Given the description of an element on the screen output the (x, y) to click on. 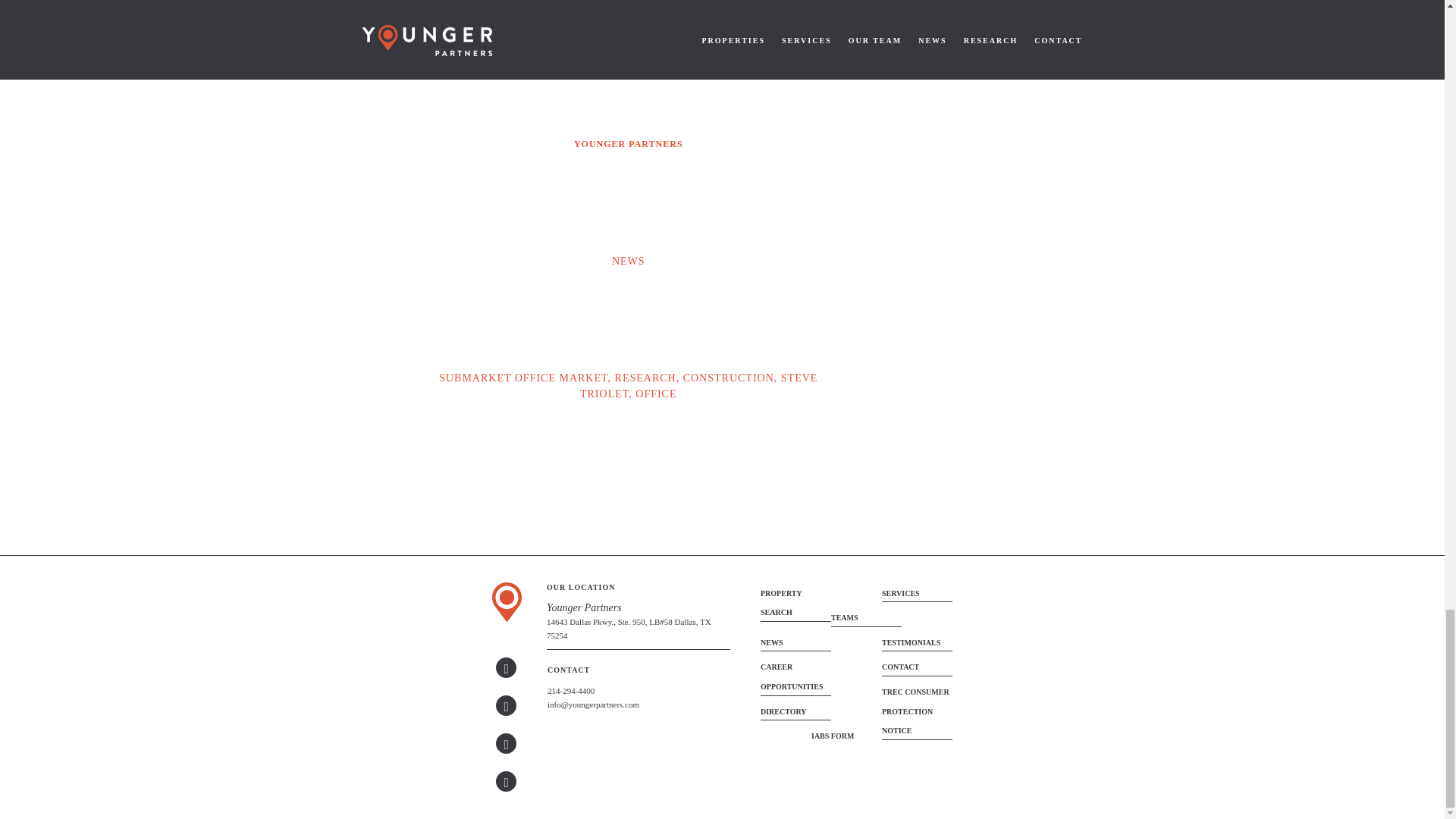
MARCH 7, 2019MARCH 7, 2019 (627, 26)
SUBMARKET OFFICE MARKET (523, 378)
Facebook (506, 781)
YOUNGER PARTNERS (627, 144)
CONSTRUCTION (728, 378)
NEWS (628, 260)
Linkedin (506, 667)
OFFICE (655, 393)
RESEARCH (645, 378)
Twitter (506, 705)
